Given the description of an element on the screen output the (x, y) to click on. 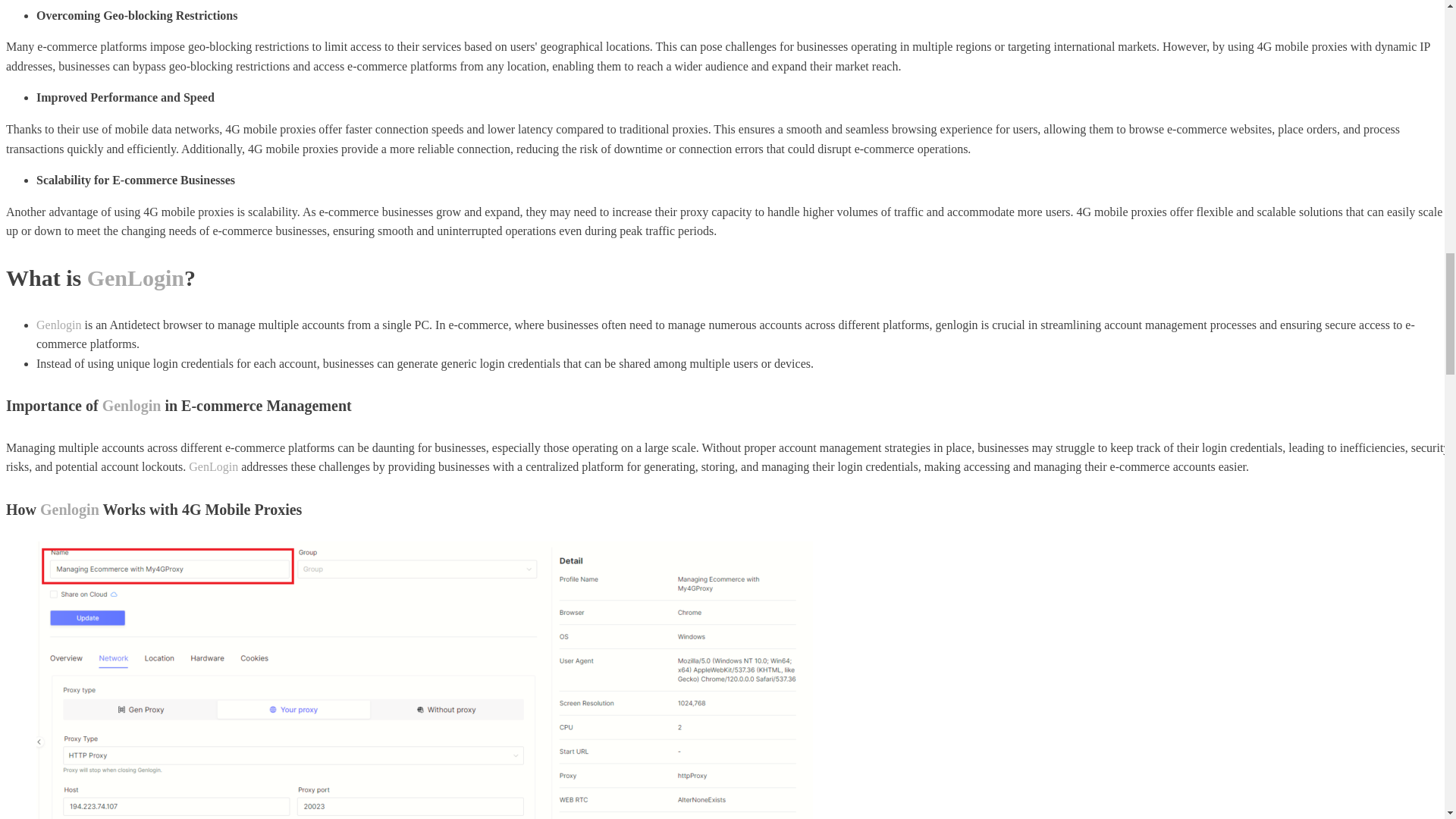
GenLogin (135, 277)
Genlogin (69, 509)
Genlogin (58, 324)
GenLogin (213, 466)
Genlogin (131, 405)
